Given the description of an element on the screen output the (x, y) to click on. 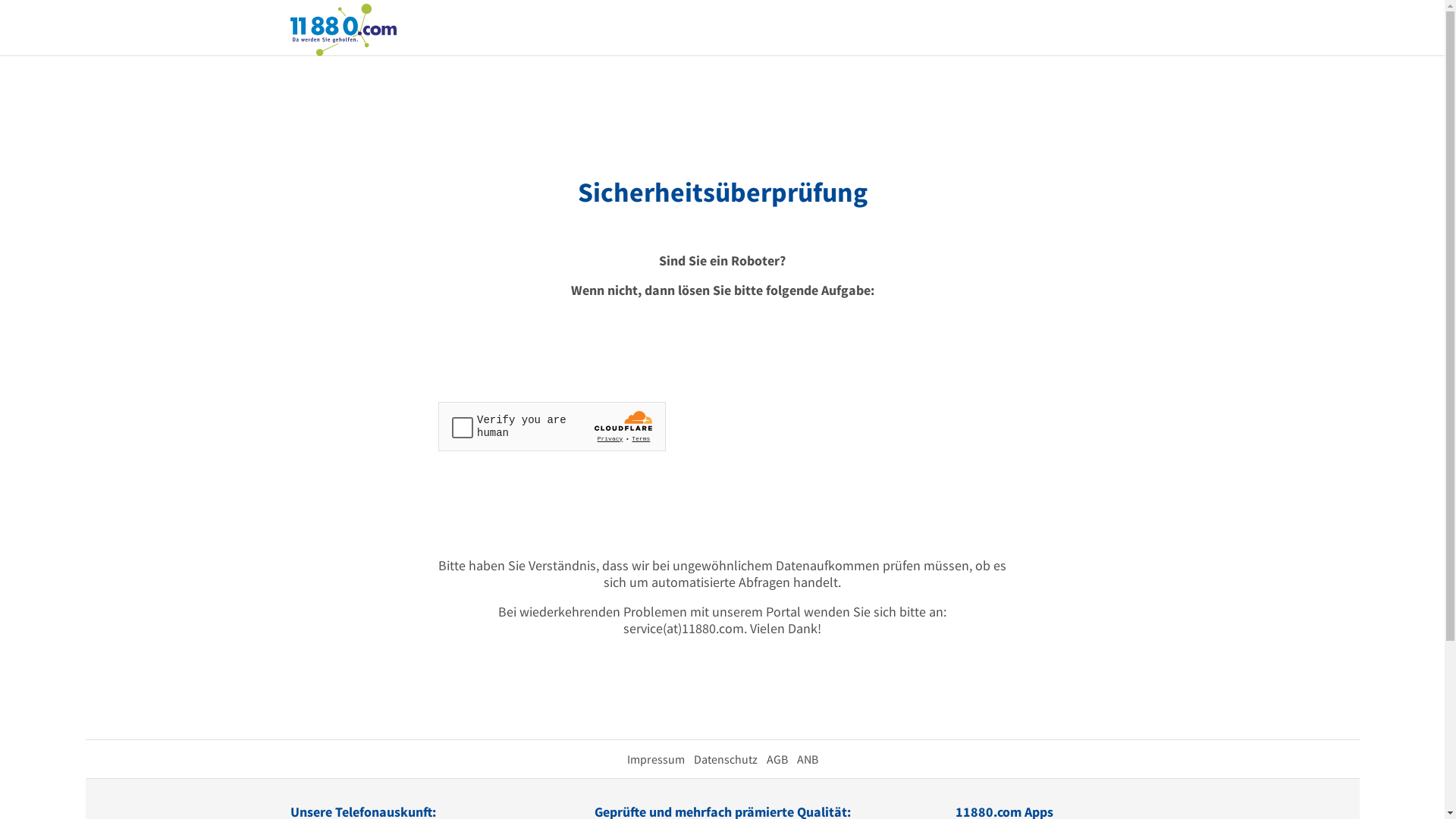
Impressum Element type: text (655, 758)
AGB Element type: text (776, 758)
ANB Element type: text (806, 758)
Datenschutz Element type: text (724, 758)
11880.com Element type: hover (342, 28)
Widget containing a Cloudflare security challenge Element type: hover (551, 426)
